Given the description of an element on the screen output the (x, y) to click on. 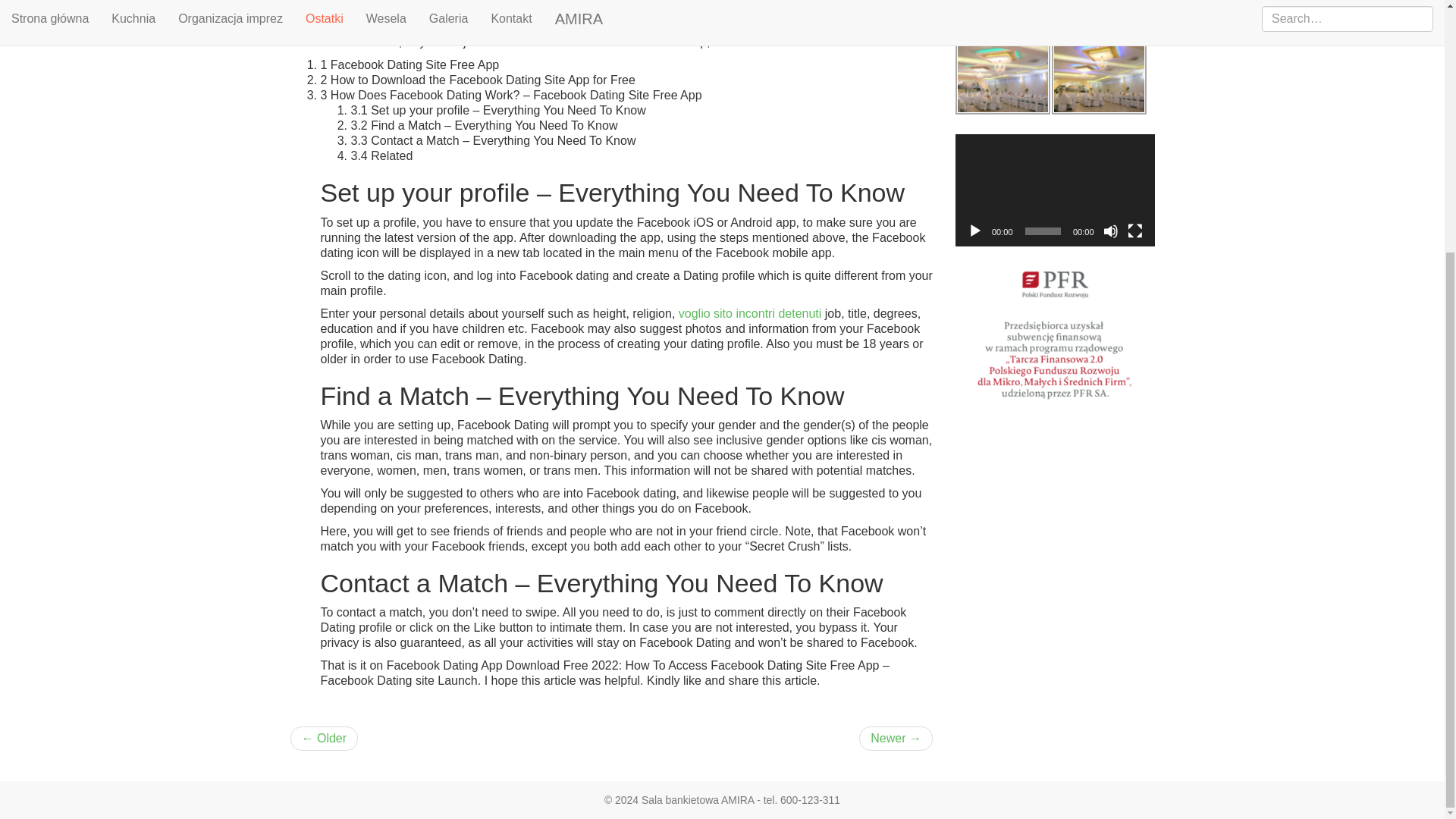
voglio sito incontri detenuti (750, 313)
sala weselna warszawa  trocka (1002, 78)
Wycisz (1110, 231)
restauracja warszawa trocka (1099, 78)
